Given the description of an element on the screen output the (x, y) to click on. 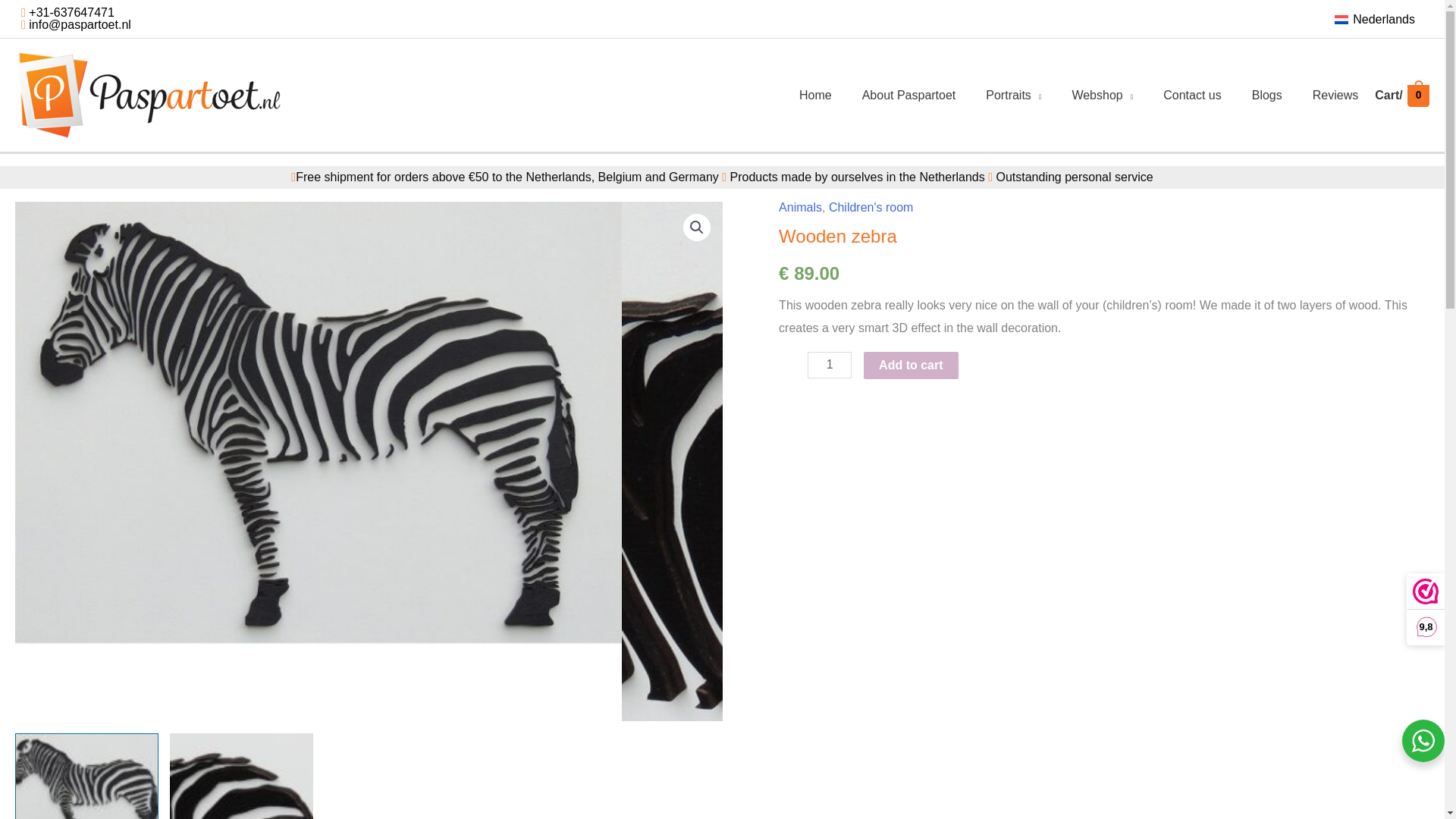
Portraits (1014, 95)
Reviews (1335, 95)
Animals (800, 206)
About Paspartoet (909, 95)
Nederlands (1374, 19)
Add to cart (910, 365)
Experiences of our fans (1335, 95)
Webshop (1102, 95)
1 (829, 365)
Contact us (1192, 95)
Blogs (1266, 95)
Children's room (871, 206)
Home (815, 95)
